Given the description of an element on the screen output the (x, y) to click on. 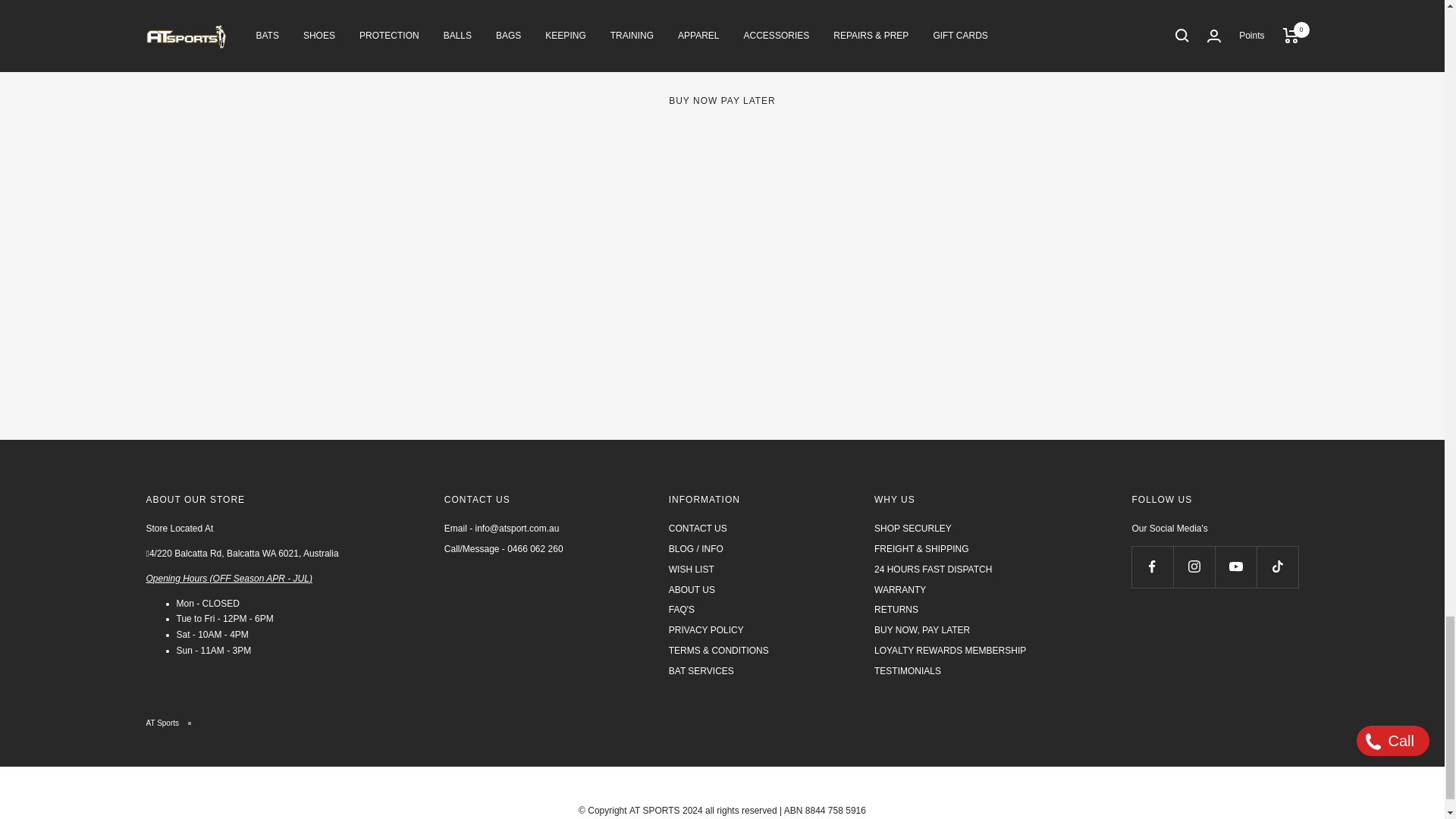
BUY NOW PAY LATER (721, 76)
